Given the description of an element on the screen output the (x, y) to click on. 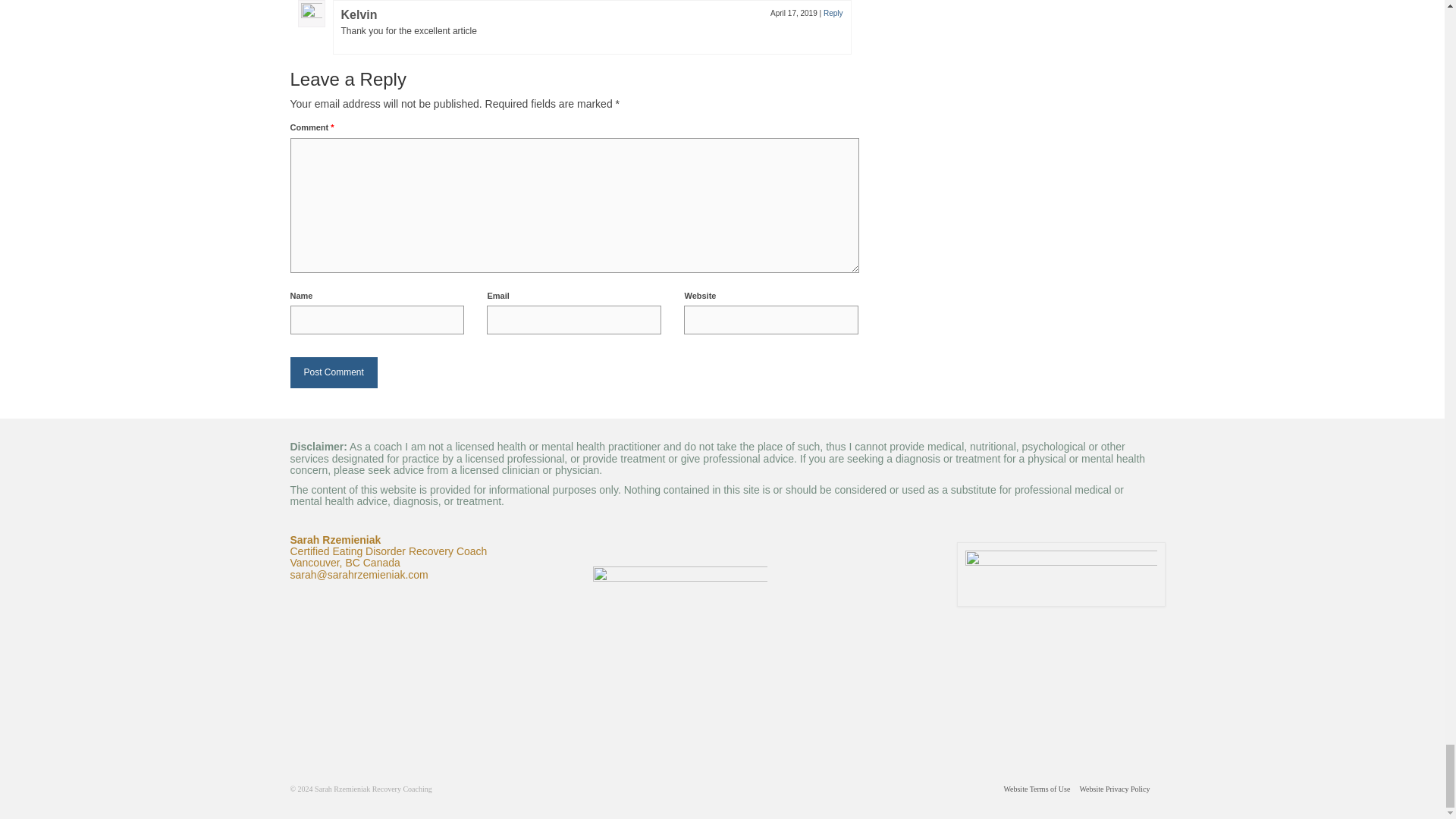
Post Comment (333, 372)
